Given the description of an element on the screen output the (x, y) to click on. 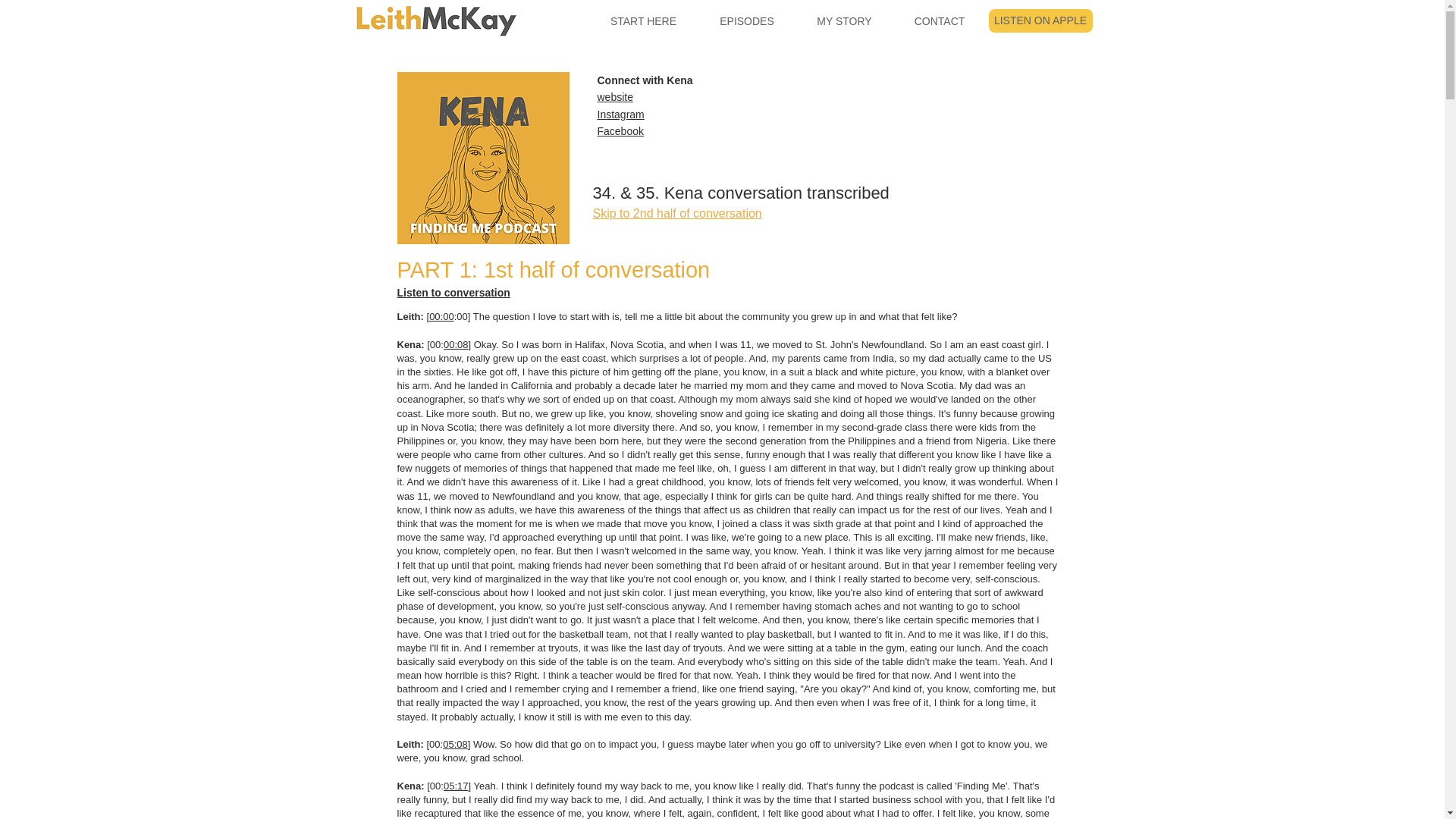
START HERE (642, 21)
05:08 (454, 744)
LISTEN ON APPLE (1040, 20)
CONTACT (940, 21)
Skip to 2nd half of conversation (676, 213)
Instagram (620, 113)
05:17 (456, 785)
MY STORY (844, 21)
Facebook (619, 131)
Listen to conversation (454, 292)
00:08 (456, 344)
00:00 (441, 316)
website (614, 96)
EPISODES (745, 21)
